Given the description of an element on the screen output the (x, y) to click on. 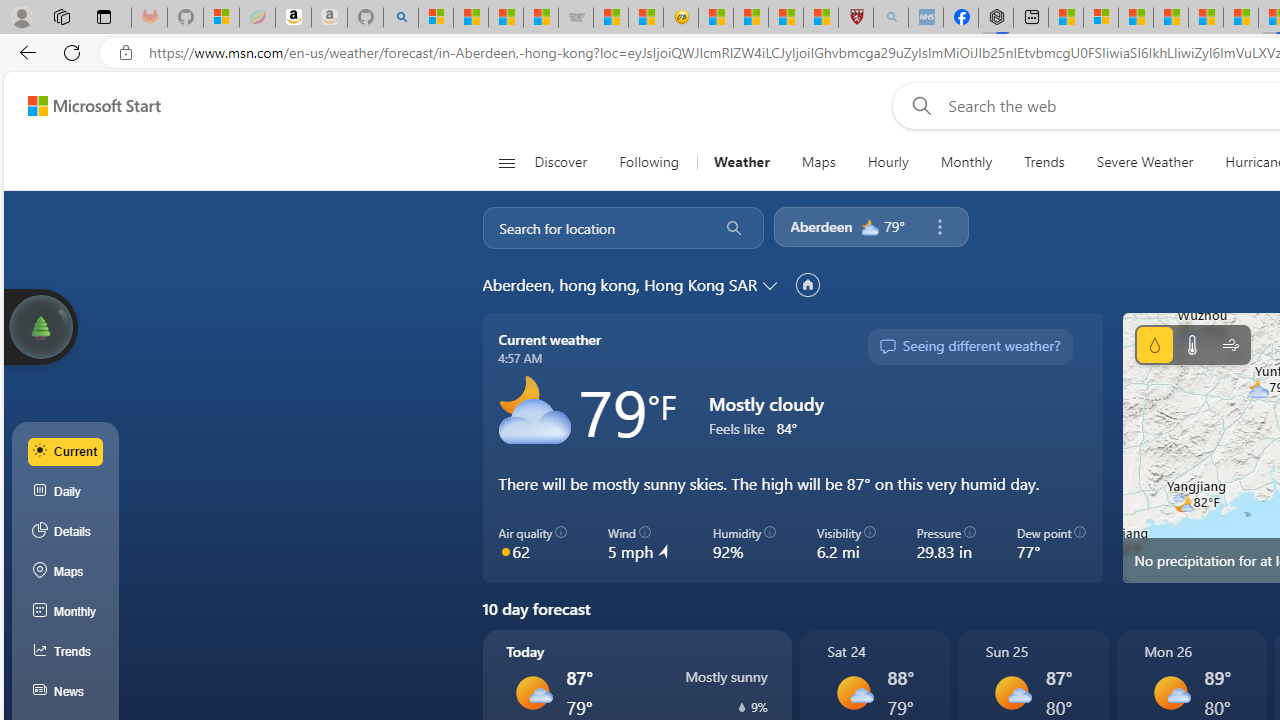
Current (65, 451)
Hourly (887, 162)
Hourly (888, 162)
Trends (1044, 162)
Remove location (939, 227)
14 Common Myths Debunked By Scientific Facts (1205, 17)
Precipitation (1154, 344)
